Given the description of an element on the screen output the (x, y) to click on. 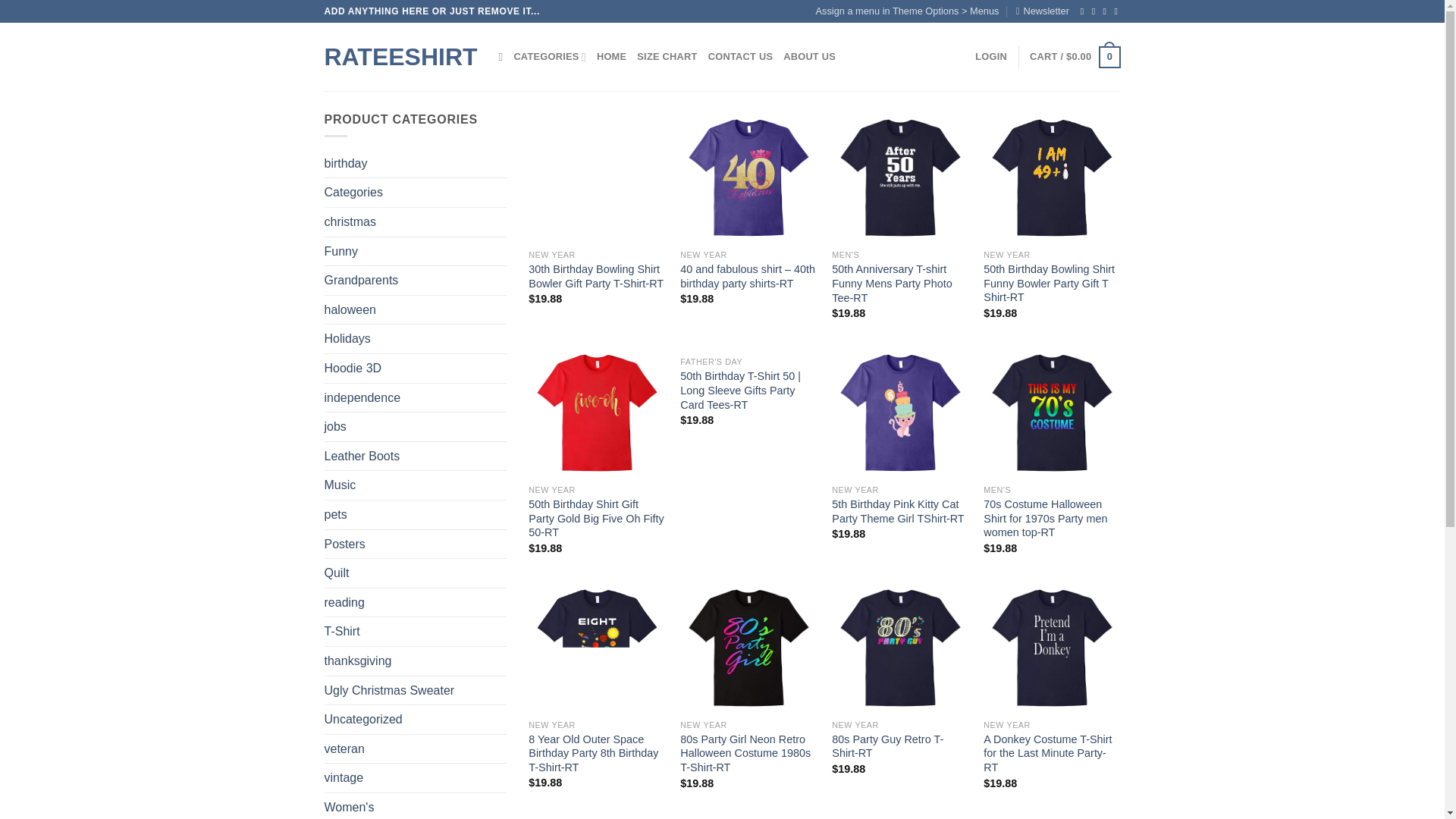
SIZE CHART (667, 56)
ABOUT US (809, 56)
HOME (611, 56)
RATEESHIRT (400, 56)
Rateeshirt - Cool T Shirt Designs For Men And Women (400, 56)
Cart (1074, 57)
CONTACT US (740, 56)
LOGIN (991, 56)
CATEGORIES (549, 56)
Newsletter (1042, 11)
Sign up for Newsletter (1042, 11)
